Given the description of an element on the screen output the (x, y) to click on. 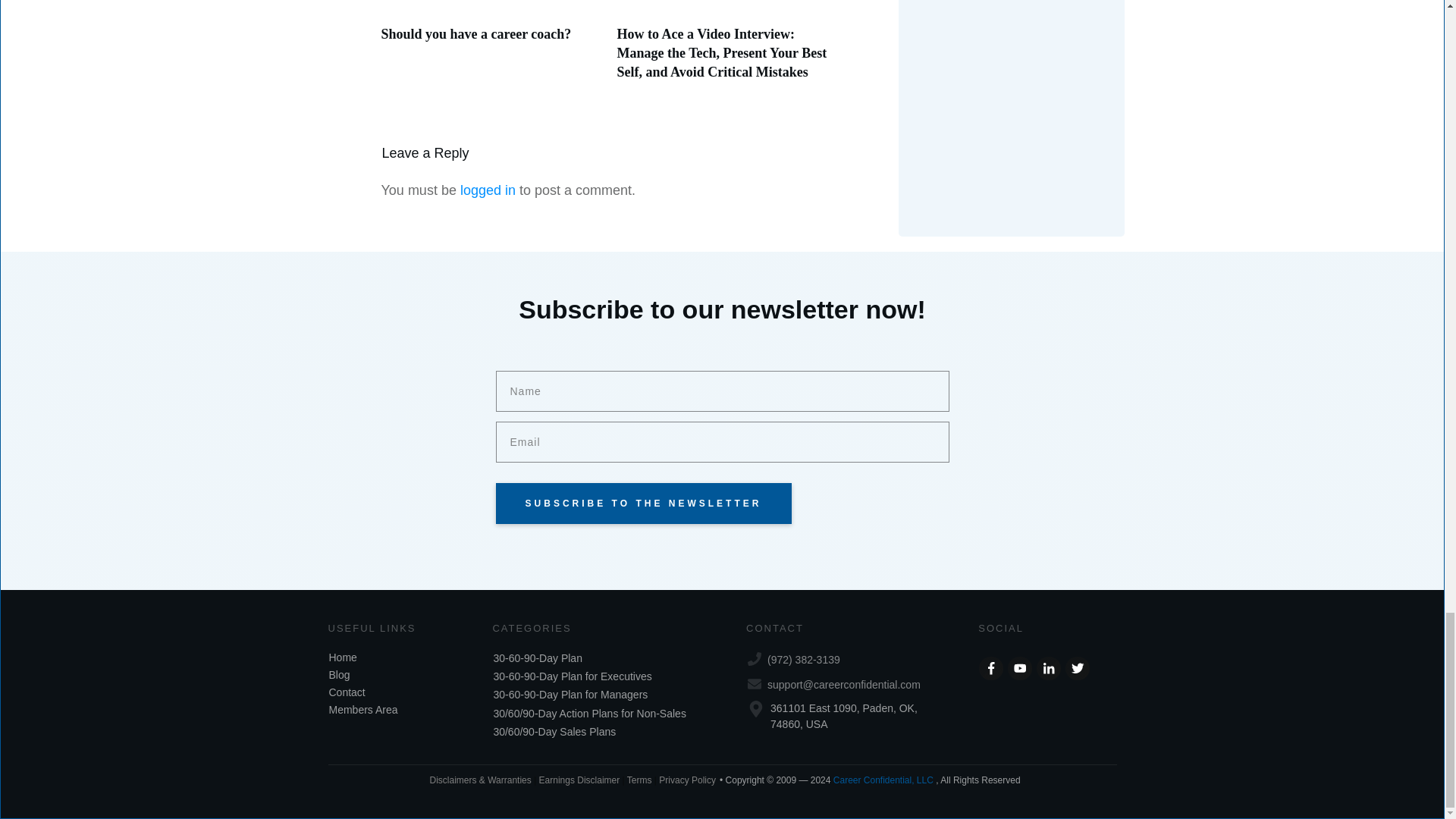
Should you have a career coach? (475, 33)
